Given the description of an element on the screen output the (x, y) to click on. 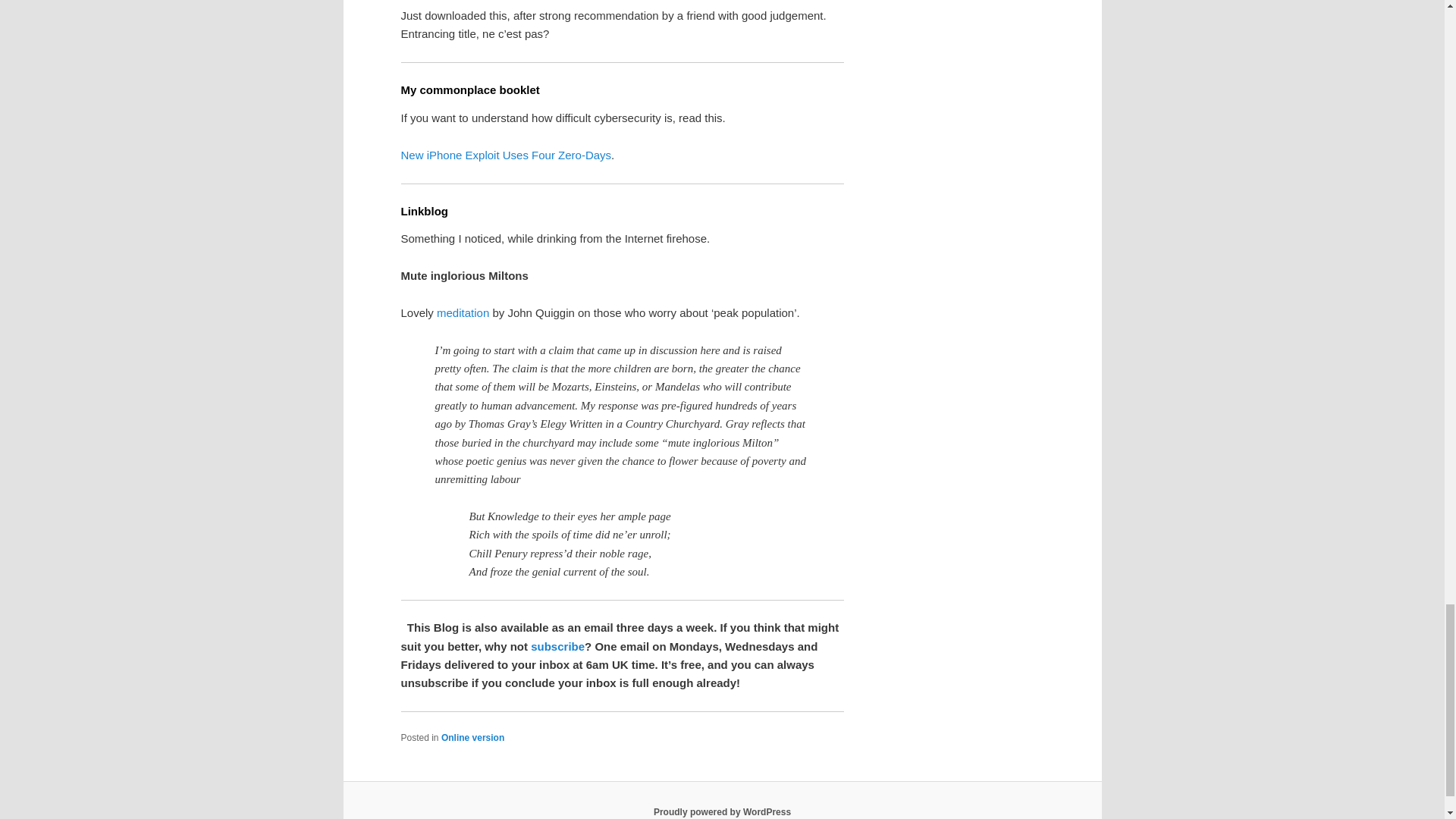
New iPhone Exploit Uses Four Zero-Days (505, 154)
Semantic Personal Publishing Platform (721, 811)
Online version (472, 737)
subscribe (558, 645)
meditation (462, 312)
